Given the description of an element on the screen output the (x, y) to click on. 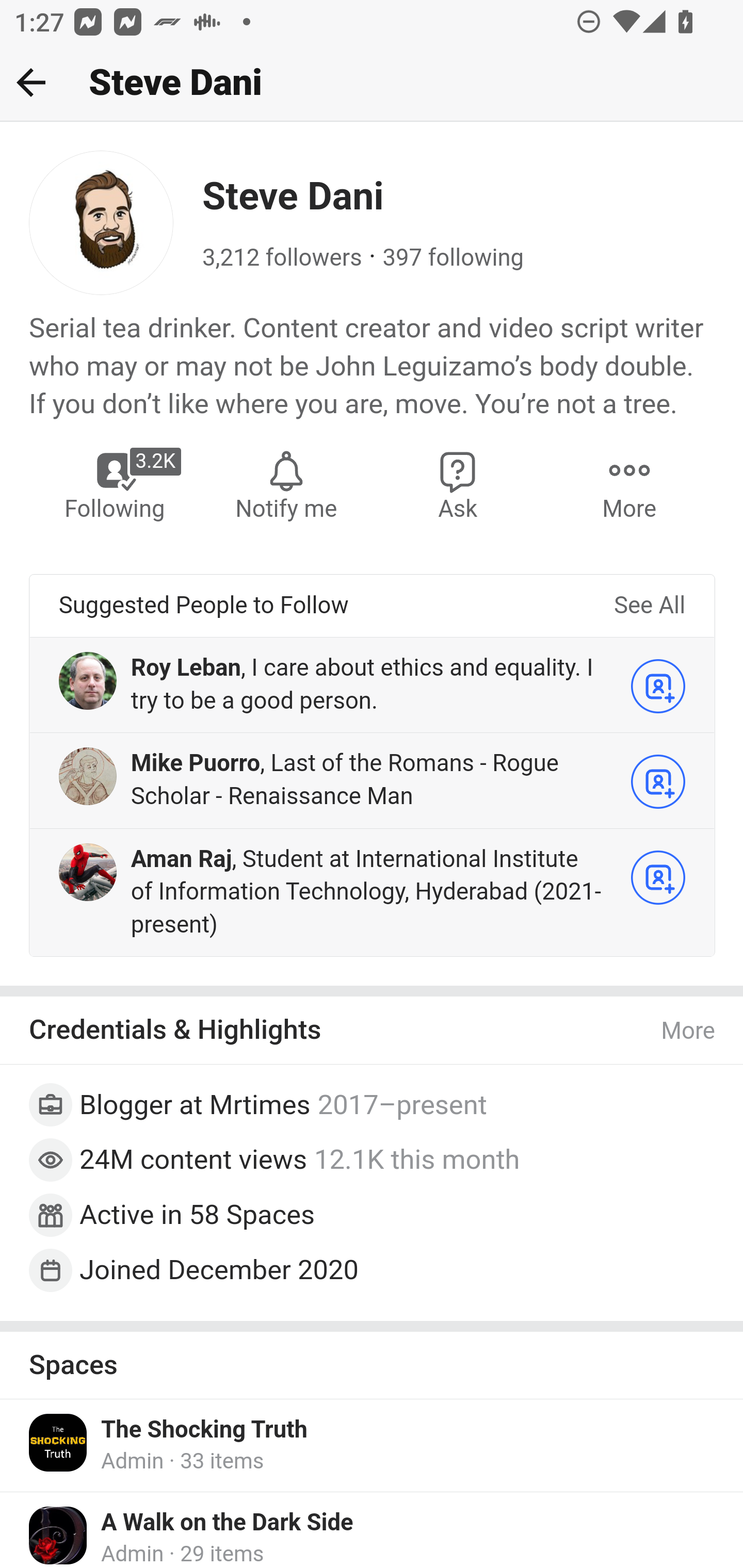
Back (30, 82)
3,212 followers (282, 257)
397 following (452, 257)
Following Steve Dani 3.2K Following (115, 483)
Notify me (285, 483)
Ask (458, 483)
More (628, 483)
See All (649, 606)
Profile photo for Roy Leban (87, 680)
Roy Leban (186, 667)
Follow Roy Leban (658, 684)
Profile photo for Mike Puorro (87, 775)
Mike Puorro (195, 764)
Follow Mike Puorro (658, 781)
Profile photo for Aman Raj (87, 871)
Aman Raj (181, 860)
Follow Aman Raj (658, 876)
More (688, 1030)
Icon for The Shocking Truth (58, 1442)
The Shocking Truth (204, 1430)
Icon for A Walk on the Dark Side (58, 1536)
A Walk on the Dark Side (227, 1523)
